Given the description of an element on the screen output the (x, y) to click on. 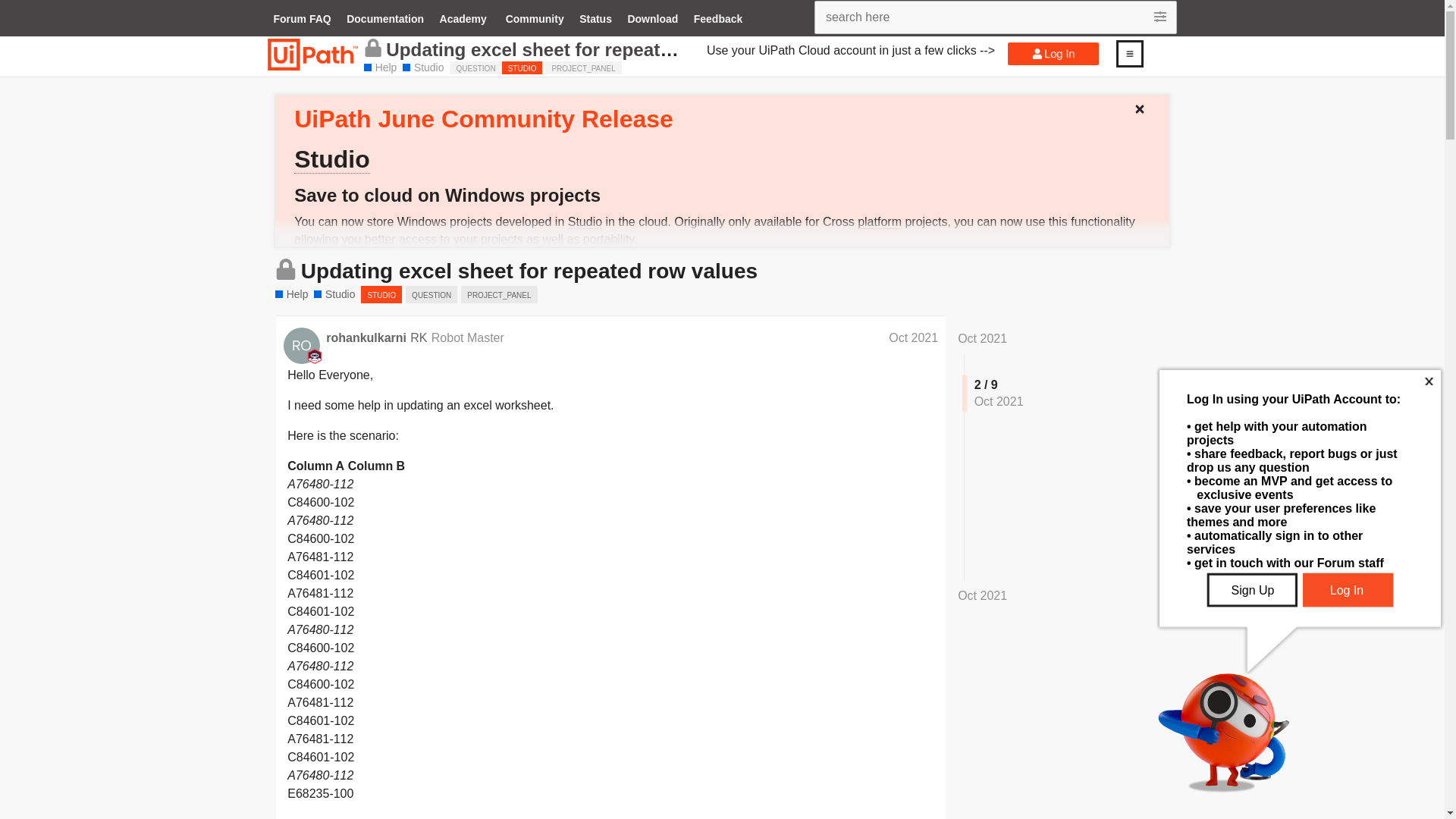
Academy (463, 20)
Documentation (384, 20)
menu (1129, 53)
Discussions around UiPath Studio features. (423, 67)
Open advanced search (1161, 17)
Forum FAQ (301, 20)
Dismiss this banner (1145, 105)
Need help with an automation? Post here. (380, 67)
